Given the description of an element on the screen output the (x, y) to click on. 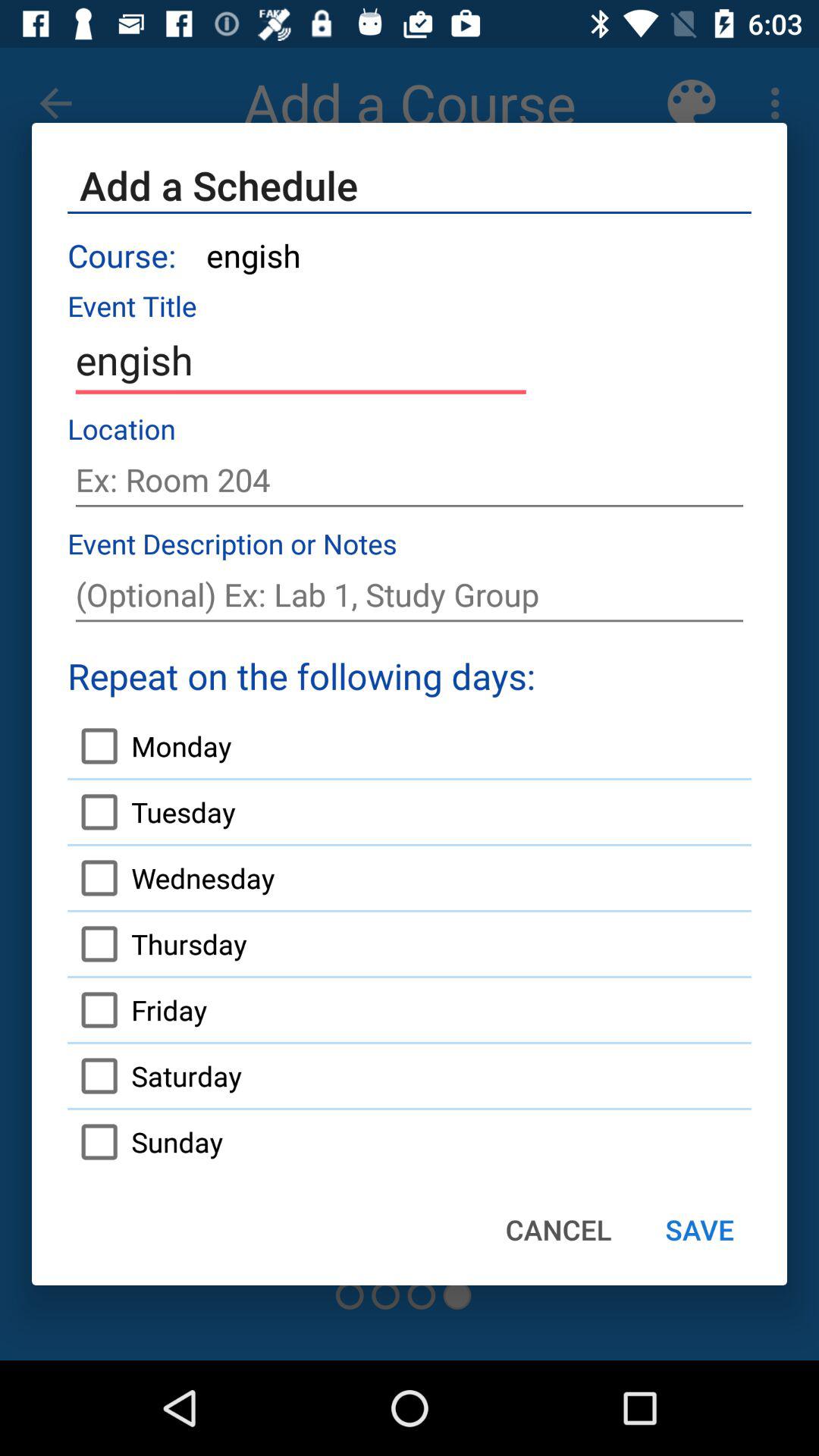
swipe until the save item (699, 1229)
